Given the description of an element on the screen output the (x, y) to click on. 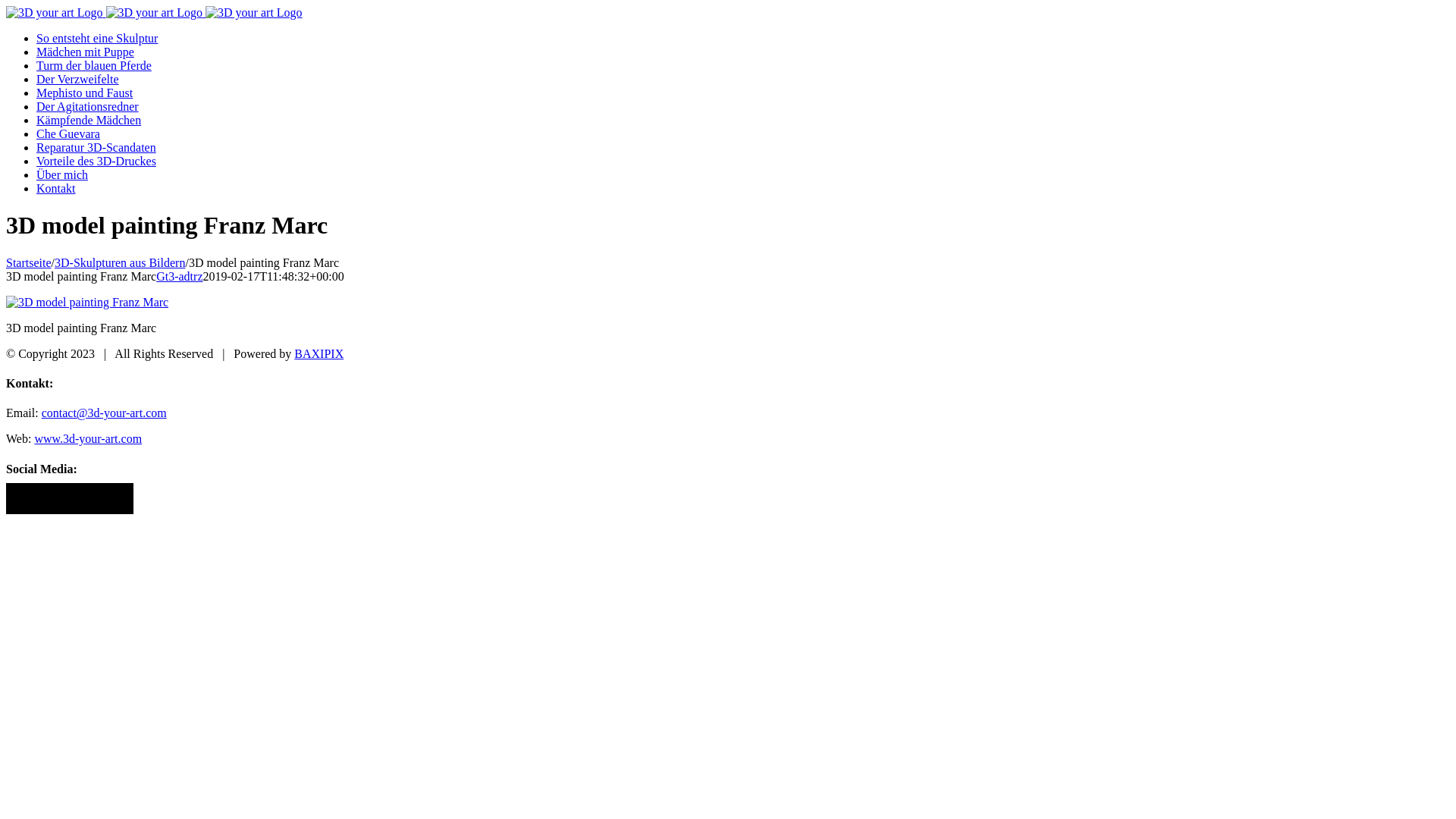
Tumblr Element type: hover (106, 498)
Turm der blauen Pferde Element type: text (93, 65)
Startseite Element type: text (28, 262)
Reparatur 3D-Scandaten Element type: text (96, 147)
Mail Element type: hover (124, 498)
Facebook Element type: hover (15, 498)
Kontakt Element type: text (55, 188)
Instagram Element type: hover (33, 498)
Mephisto und Faust Element type: text (84, 92)
Che Guevara Element type: text (68, 133)
Twitter Element type: hover (69, 498)
www.3d-your-art.com Element type: text (87, 438)
contact@3d-your-art.com Element type: text (103, 412)
Der Verzweifelte Element type: text (77, 78)
Gt3-adtrz Element type: text (179, 275)
Zum Inhalt springen Element type: text (5, 5)
3D-Skulpturen aus Bildern Element type: text (119, 262)
So entsteht eine Skulptur Element type: text (96, 37)
BAXIPIX Element type: text (318, 353)
Vorteile des 3D-Druckes Element type: text (96, 160)
LinkedIn Element type: hover (51, 498)
Der Agitationsredner Element type: text (87, 106)
YouTube Element type: hover (87, 498)
